Given the description of an element on the screen output the (x, y) to click on. 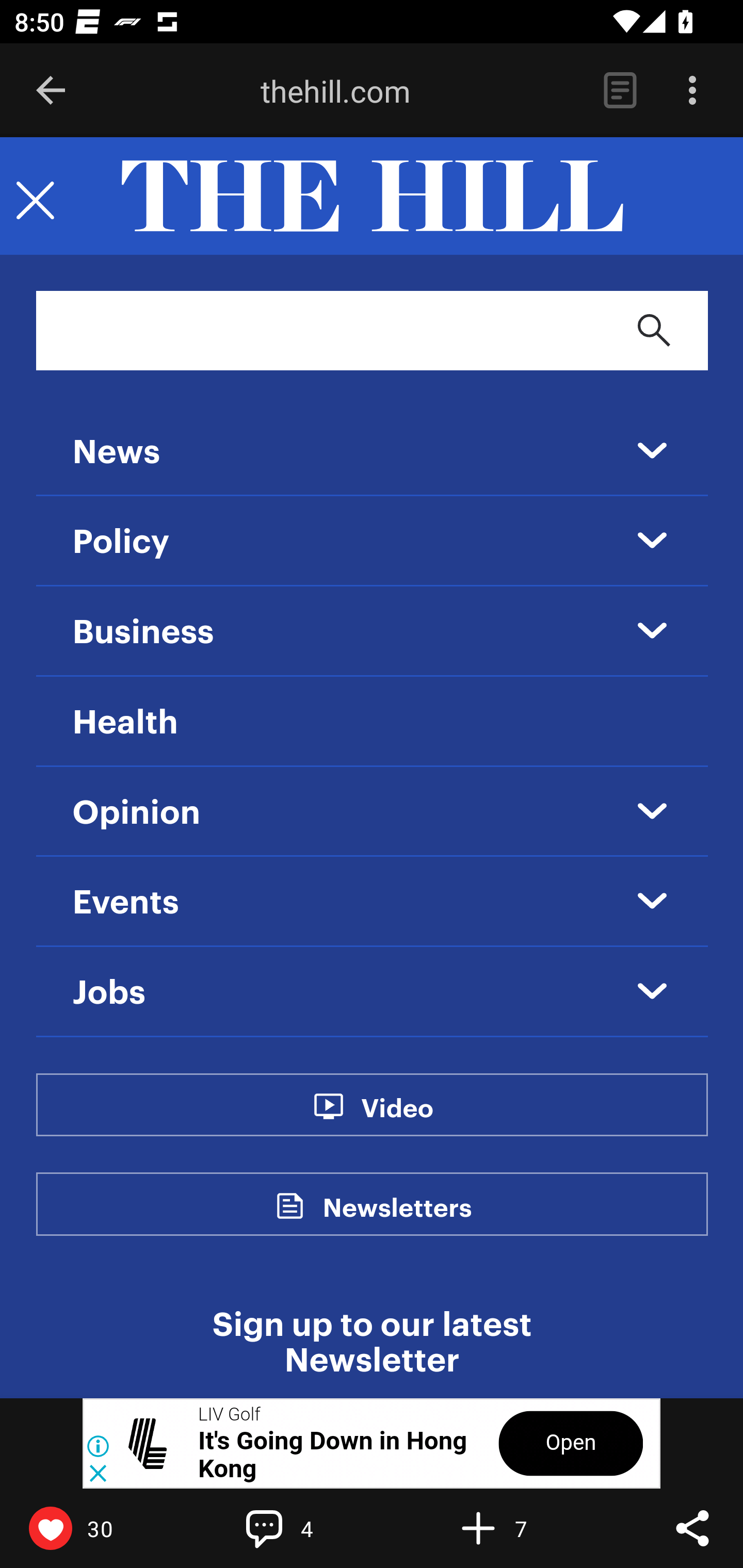
Back (50, 90)
Reader View (619, 90)
Options (692, 90)
Toggle Menu (34, 196)
TheHill.com (371, 196)
Search (654, 329)
News (116, 453)
Policy (121, 543)
Business (143, 632)
Health (125, 722)
Opinion (137, 812)
Events (126, 902)
Jobs (109, 993)
Video (396, 1118)
Newsletters (397, 1218)
Like 30 (93, 1528)
Write a comment… 4 (307, 1528)
Flip into Magazine 7 (521, 1528)
Share (692, 1528)
